Given the description of an element on the screen output the (x, y) to click on. 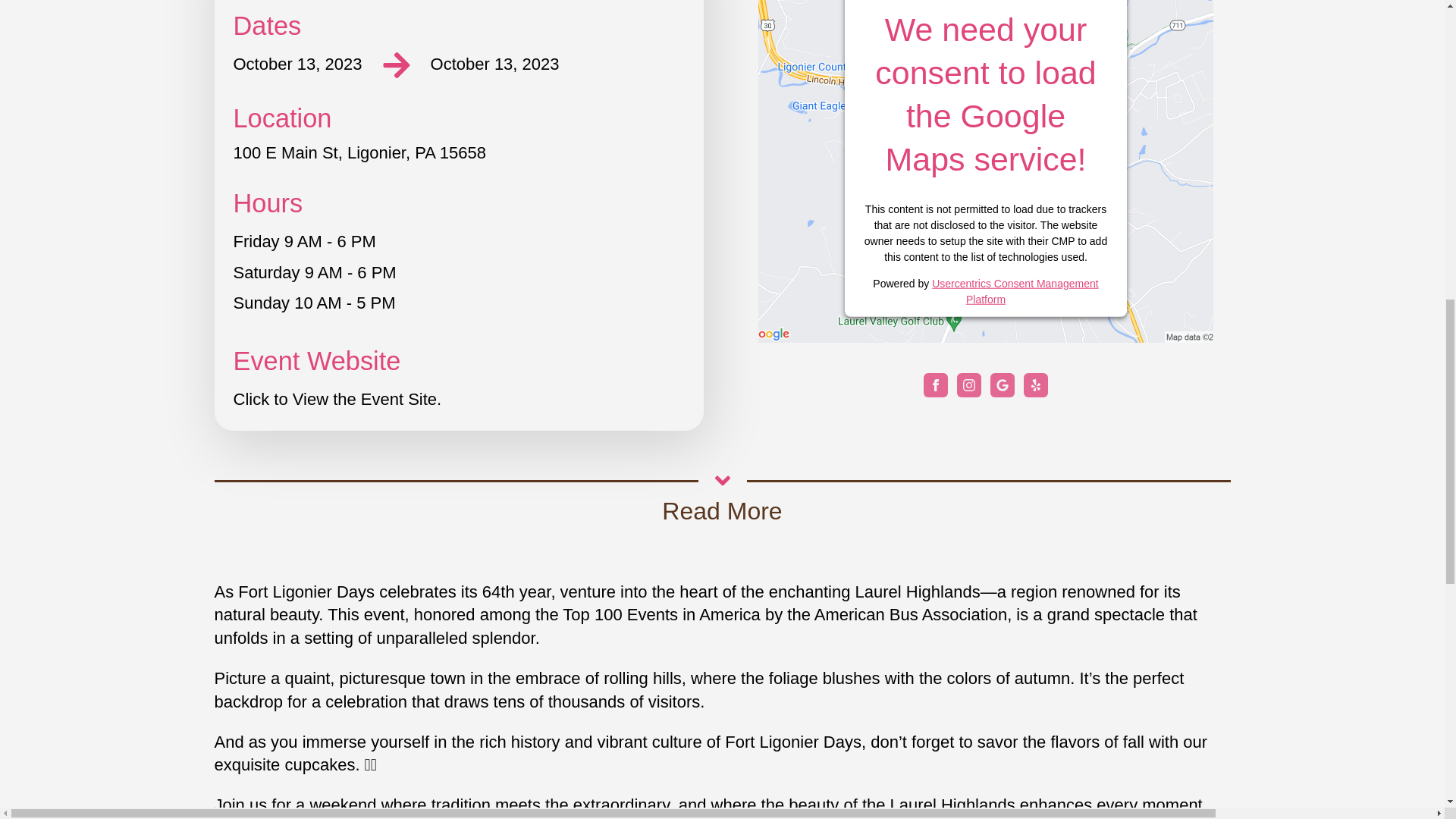
Click to View the Event Site. (337, 399)
Usercentrics Consent Management Platform (1014, 290)
